Given the description of an element on the screen output the (x, y) to click on. 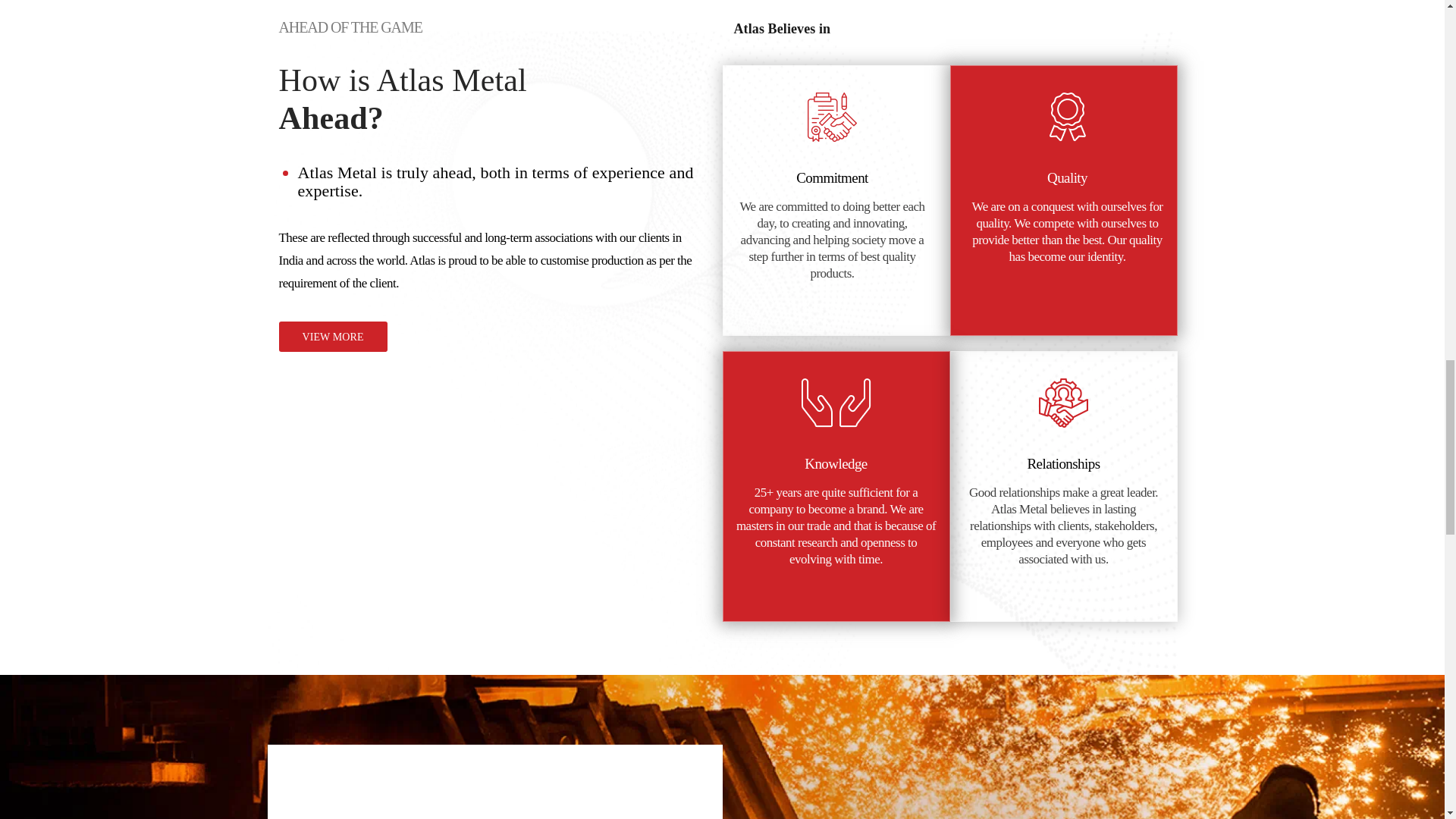
VIEW MORE (333, 336)
